Given the description of an element on the screen output the (x, y) to click on. 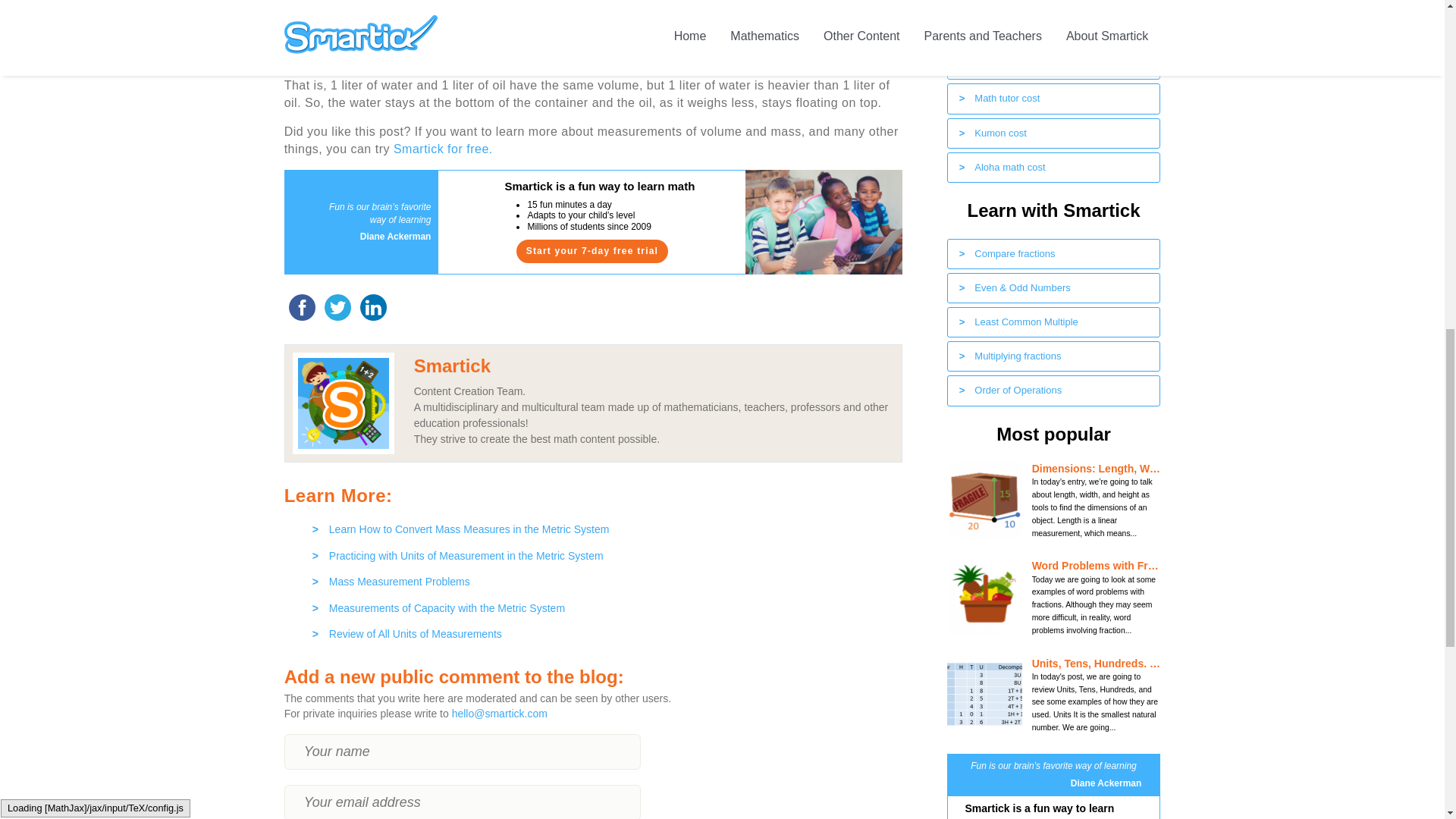
Review of All Units of Measurements (601, 630)
Learn How to Convert Mass Measures in the Metric System (601, 526)
Smartick for free. (443, 148)
Review of All Units of Measurements (601, 630)
Mass Measurement Problems (601, 578)
Practicing with Units of Measurement in the Metric System (601, 552)
LinkedIn (373, 307)
Measurements of Capacity with the Metric System (601, 604)
Smartick (451, 365)
Facebook (301, 307)
